Given the description of an element on the screen output the (x, y) to click on. 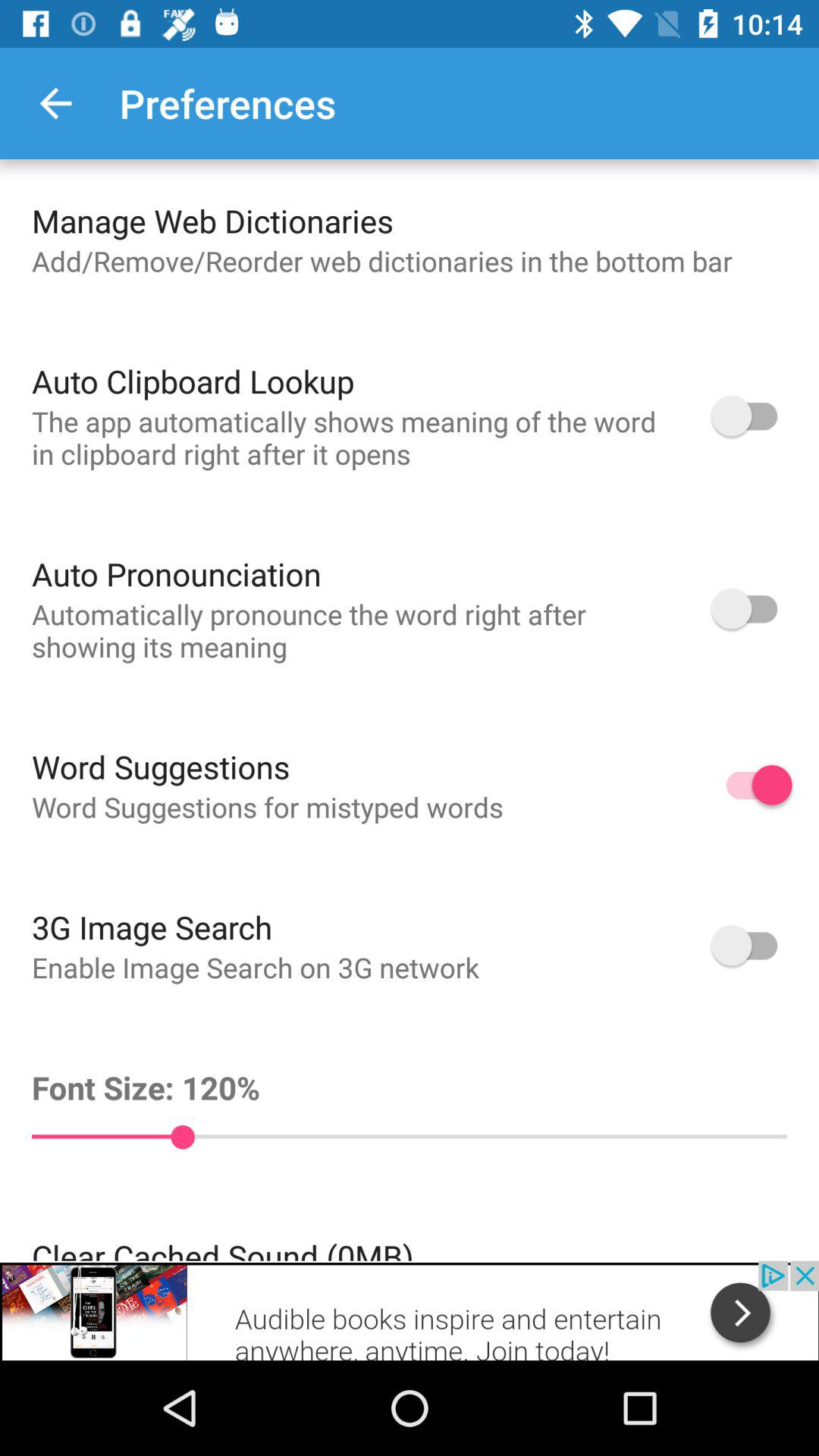
off (751, 416)
